Given the description of an element on the screen output the (x, y) to click on. 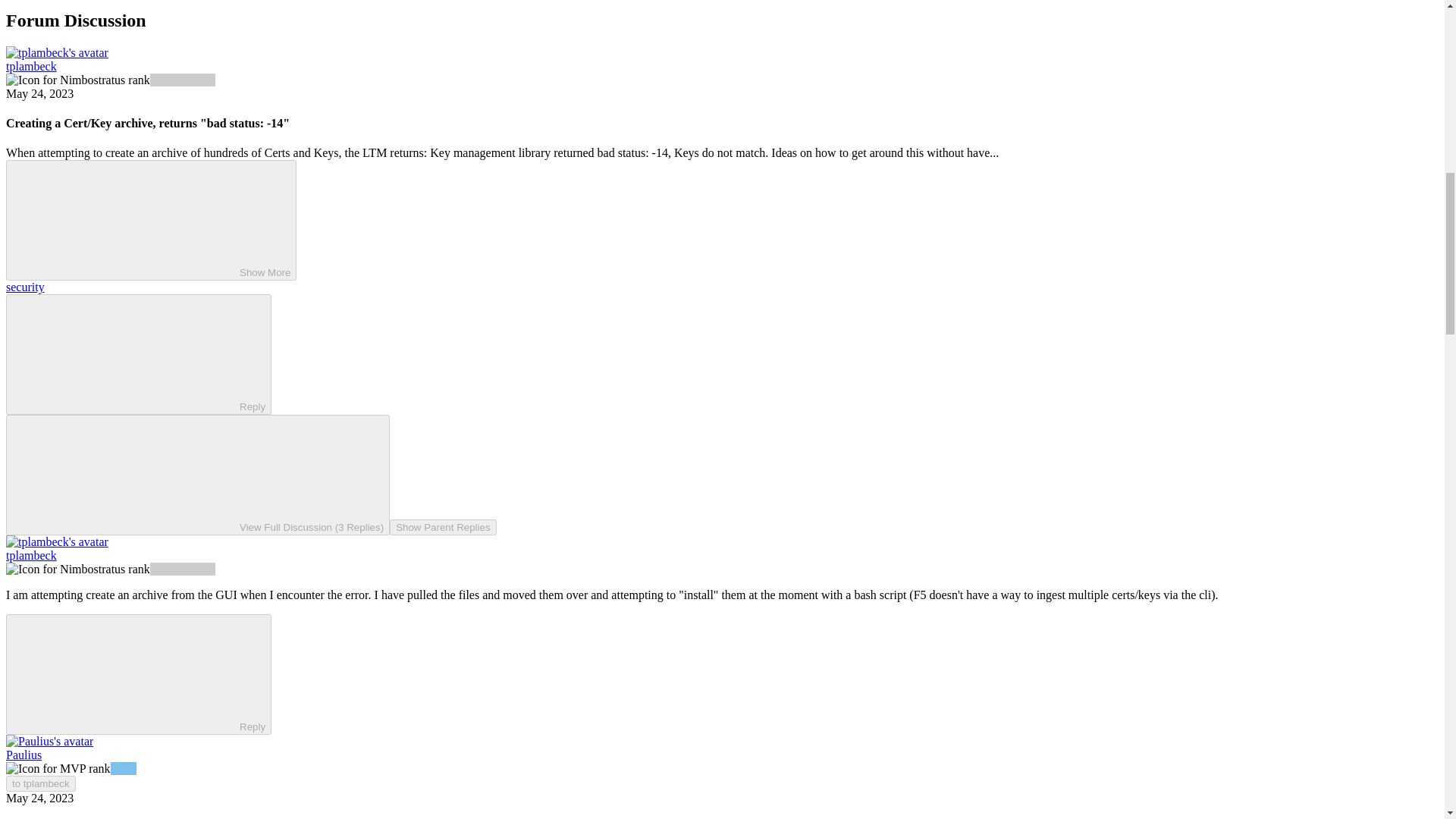
to tplambeck (40, 783)
ReplyReply (137, 354)
May 24, 2023 at 4:28 PM (39, 92)
Show More (151, 219)
tplambeck (30, 65)
tplambeck (30, 554)
Show Parent Replies (443, 527)
ReplyReply (137, 674)
Reply (125, 673)
Paulius (23, 754)
May 24, 2023 at 9:43 PM (39, 797)
security (25, 286)
tplambeck (30, 818)
Reply (125, 353)
